Given the description of an element on the screen output the (x, y) to click on. 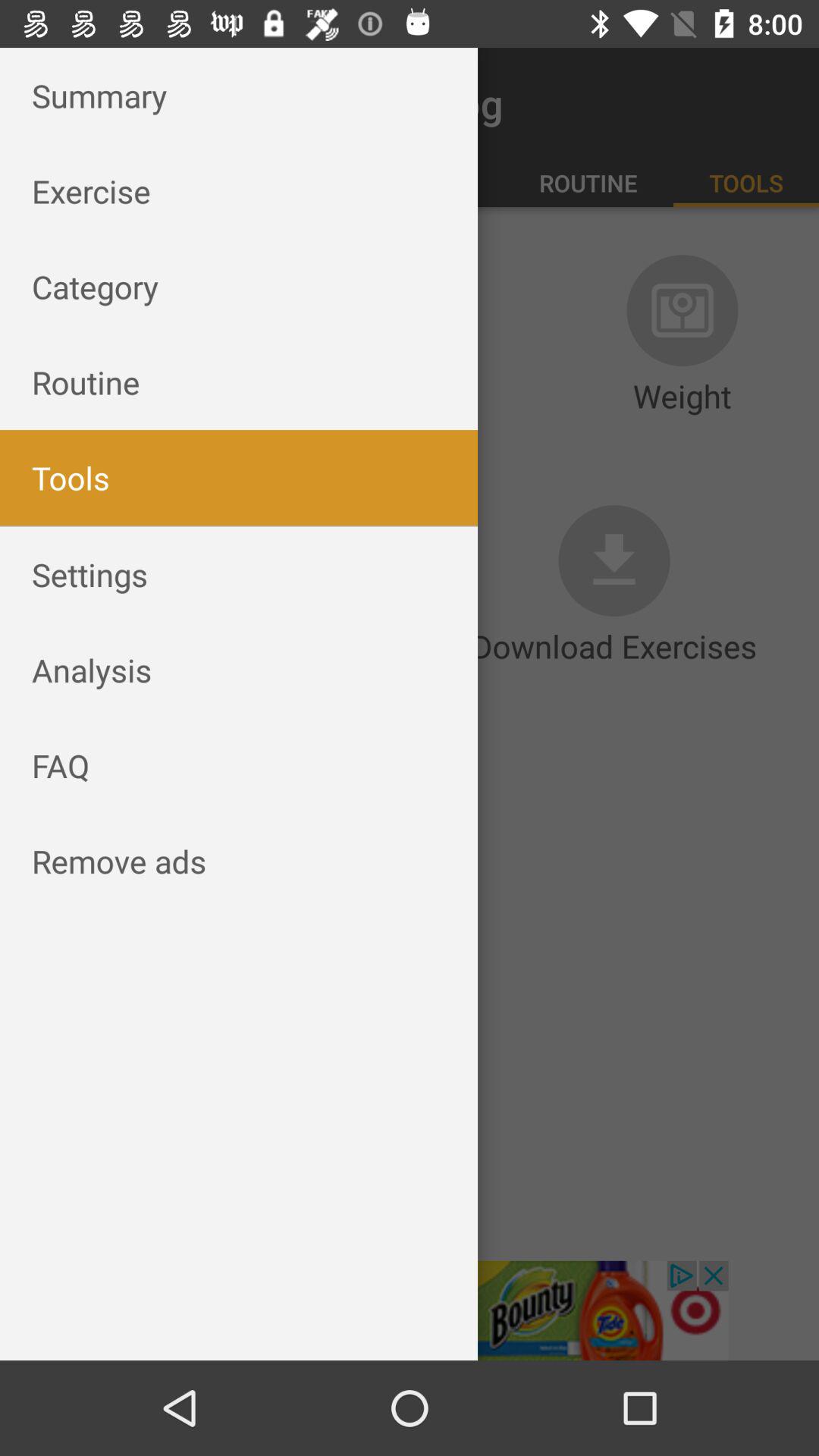
select the icon which is above weight (682, 310)
